Given the description of an element on the screen output the (x, y) to click on. 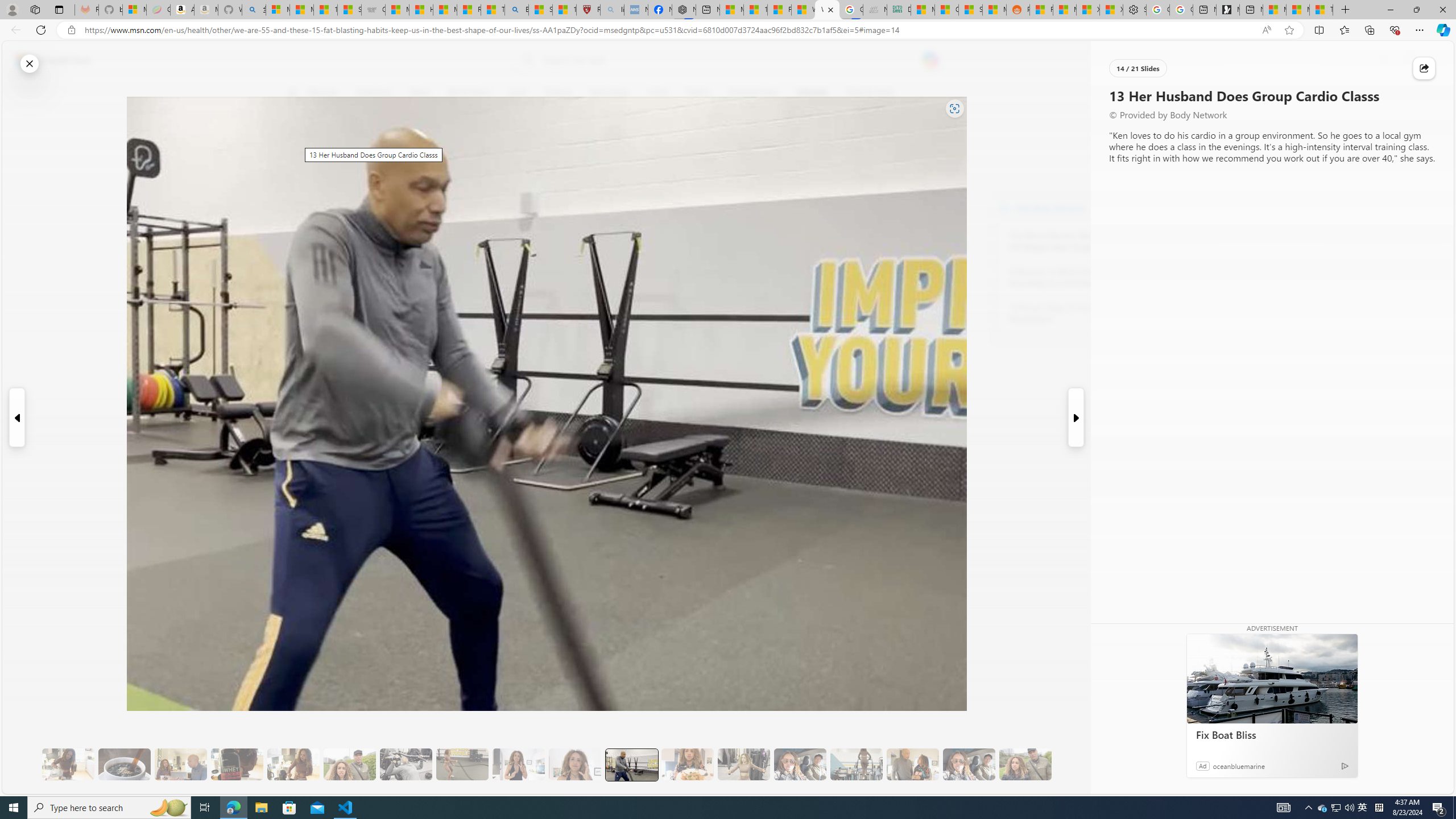
20 Overall, It Will Improve Your Health (1024, 764)
8 They Walk to the Gym (349, 764)
3 They Drink Lemon Tea (68, 764)
Recipes - MSN (469, 9)
Go to publisher's site (830, 146)
3 They Drink Lemon Tea (68, 764)
18 It's More Fun Doing It with Someone Else (912, 764)
